Given the description of an element on the screen output the (x, y) to click on. 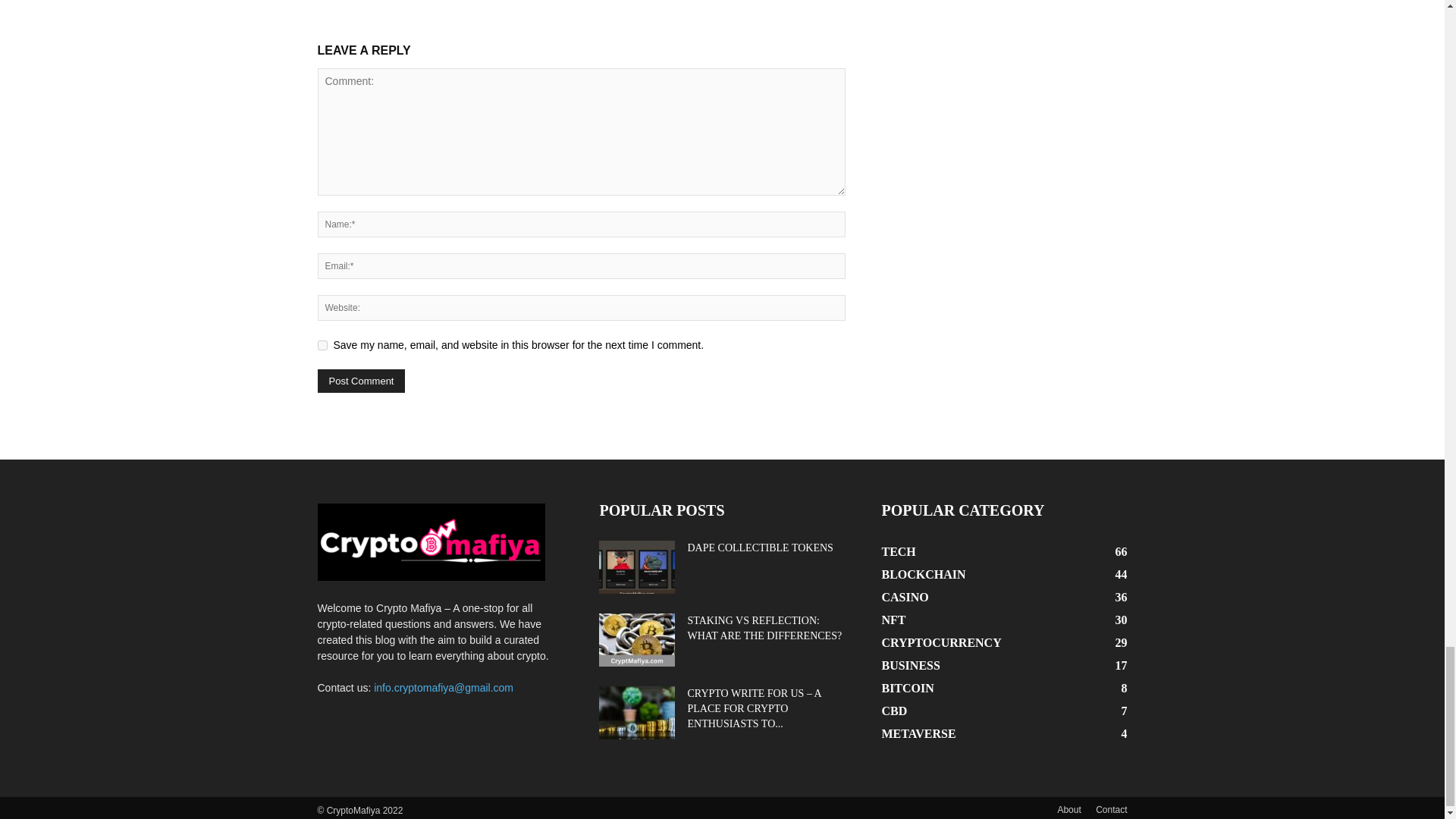
yes (321, 345)
Post Comment (360, 381)
